Given the description of an element on the screen output the (x, y) to click on. 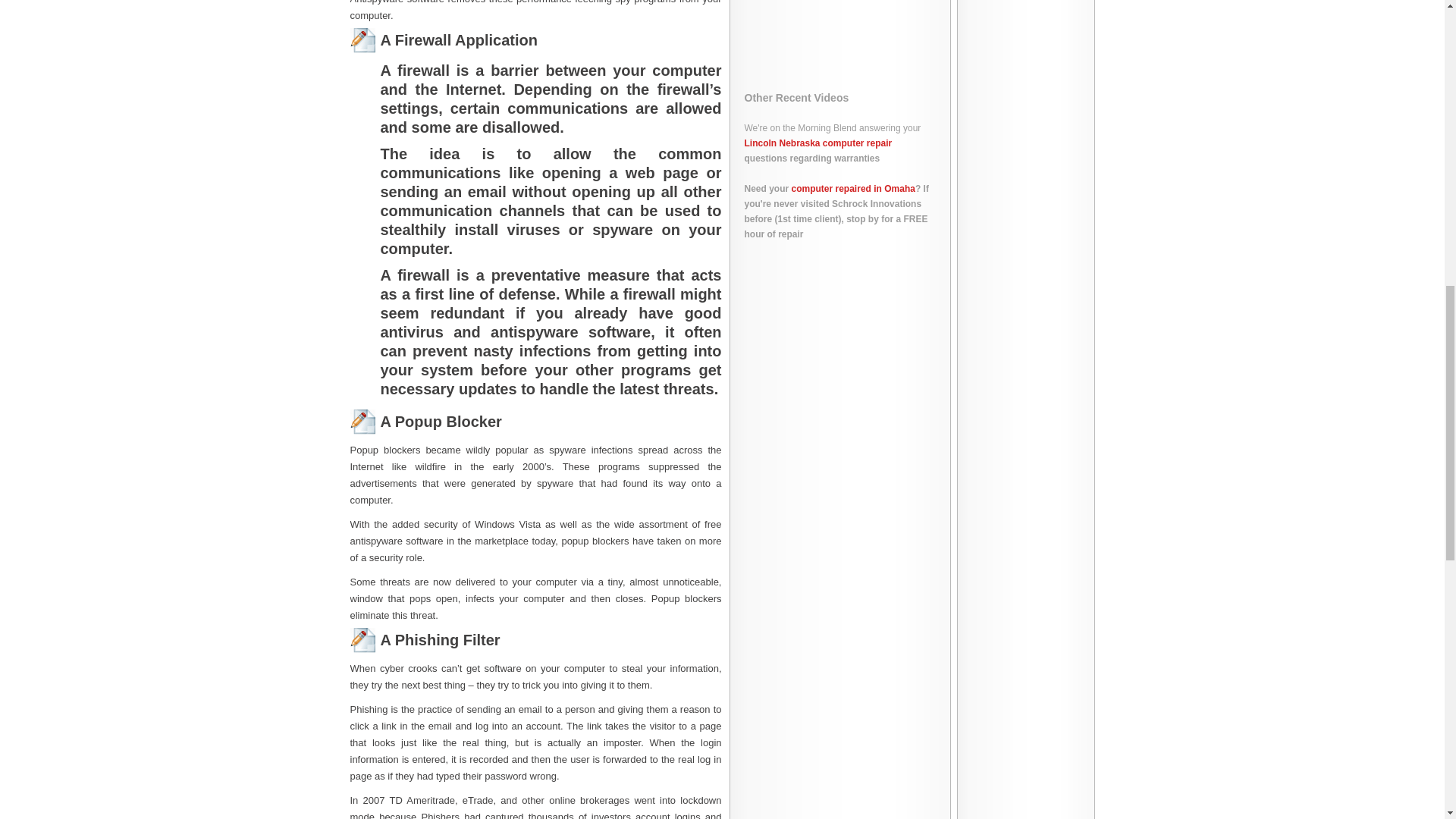
computer repaired in Omaha (853, 188)
Lincoln Nebraska computer repair (818, 143)
